Given the description of an element on the screen output the (x, y) to click on. 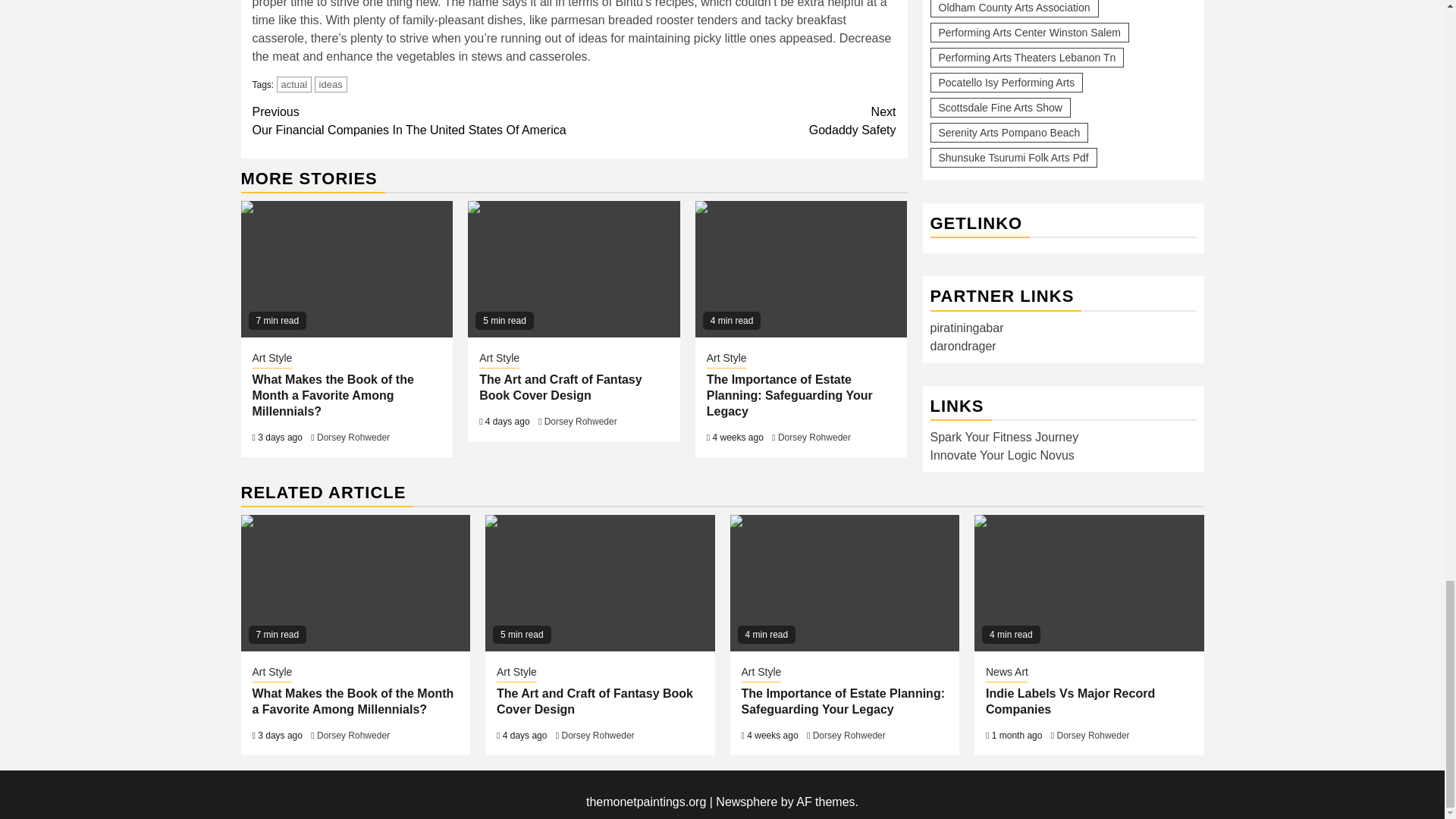
ideas (330, 84)
The Importance of Estate Planning: Safeguarding Your Legacy (801, 268)
Art Style (271, 359)
The Art and Craft of Fantasy Book Cover Design (573, 268)
actual (734, 121)
